Given the description of an element on the screen output the (x, y) to click on. 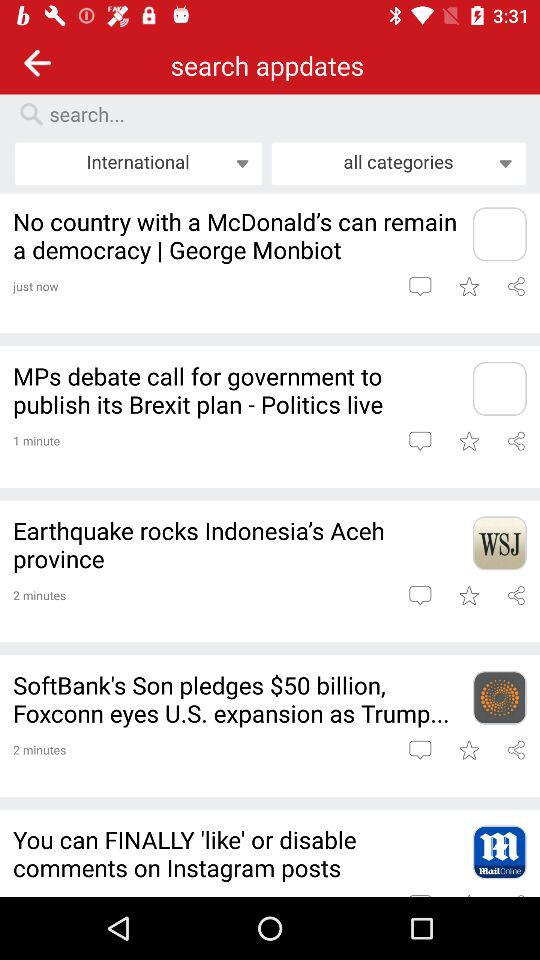
favorite article (468, 286)
